Given the description of an element on the screen output the (x, y) to click on. 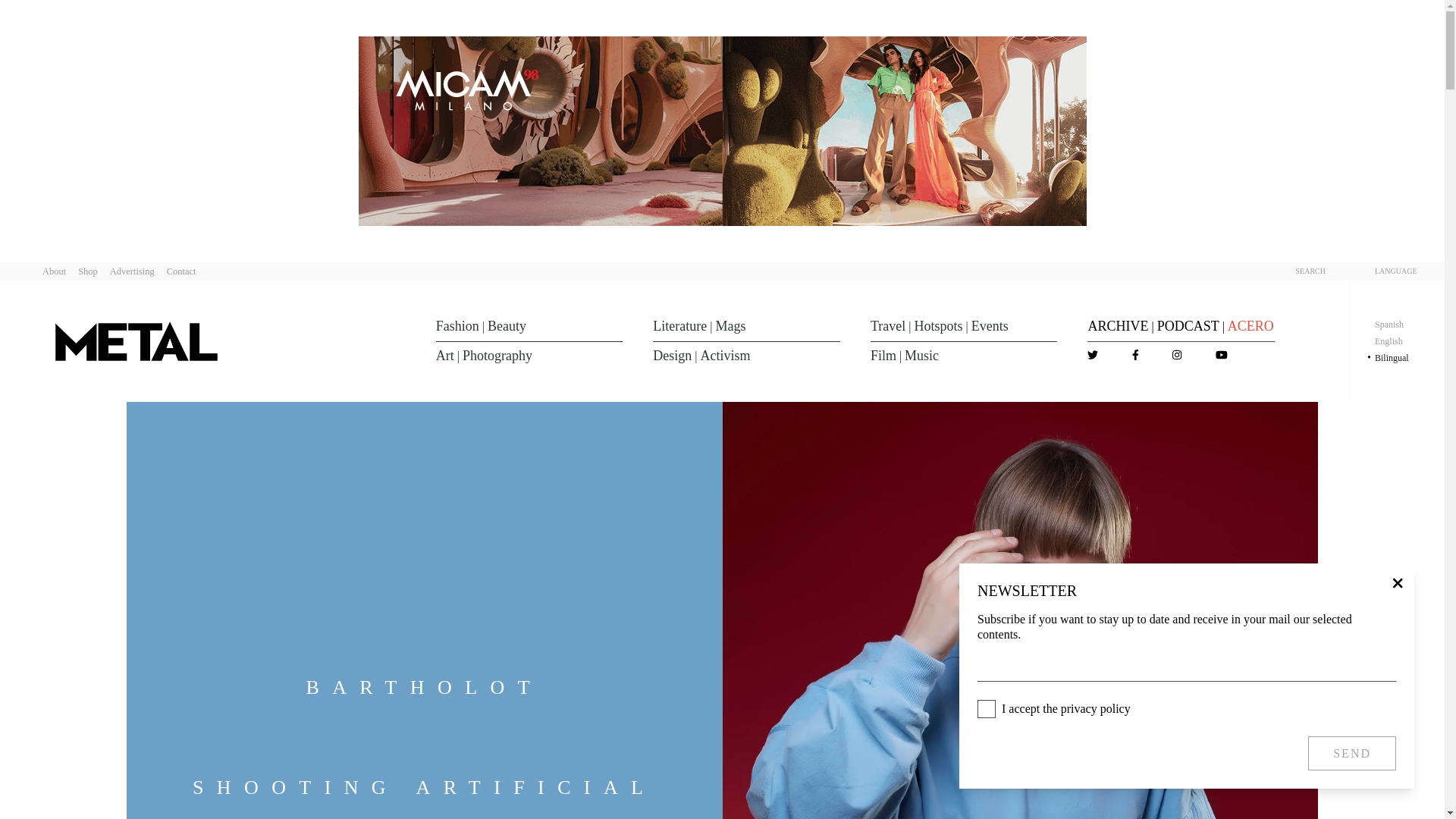
Activism (725, 355)
Contact (181, 271)
Design (671, 355)
Events (990, 326)
Film (883, 355)
PODCAST (1188, 326)
Literature (679, 326)
Mags (730, 326)
Music (921, 355)
Fashion (457, 326)
ACERO (1250, 326)
Photography (497, 355)
ARCHIVE (1117, 326)
Bilingual (1391, 357)
Hotspots (938, 326)
